Given the description of an element on the screen output the (x, y) to click on. 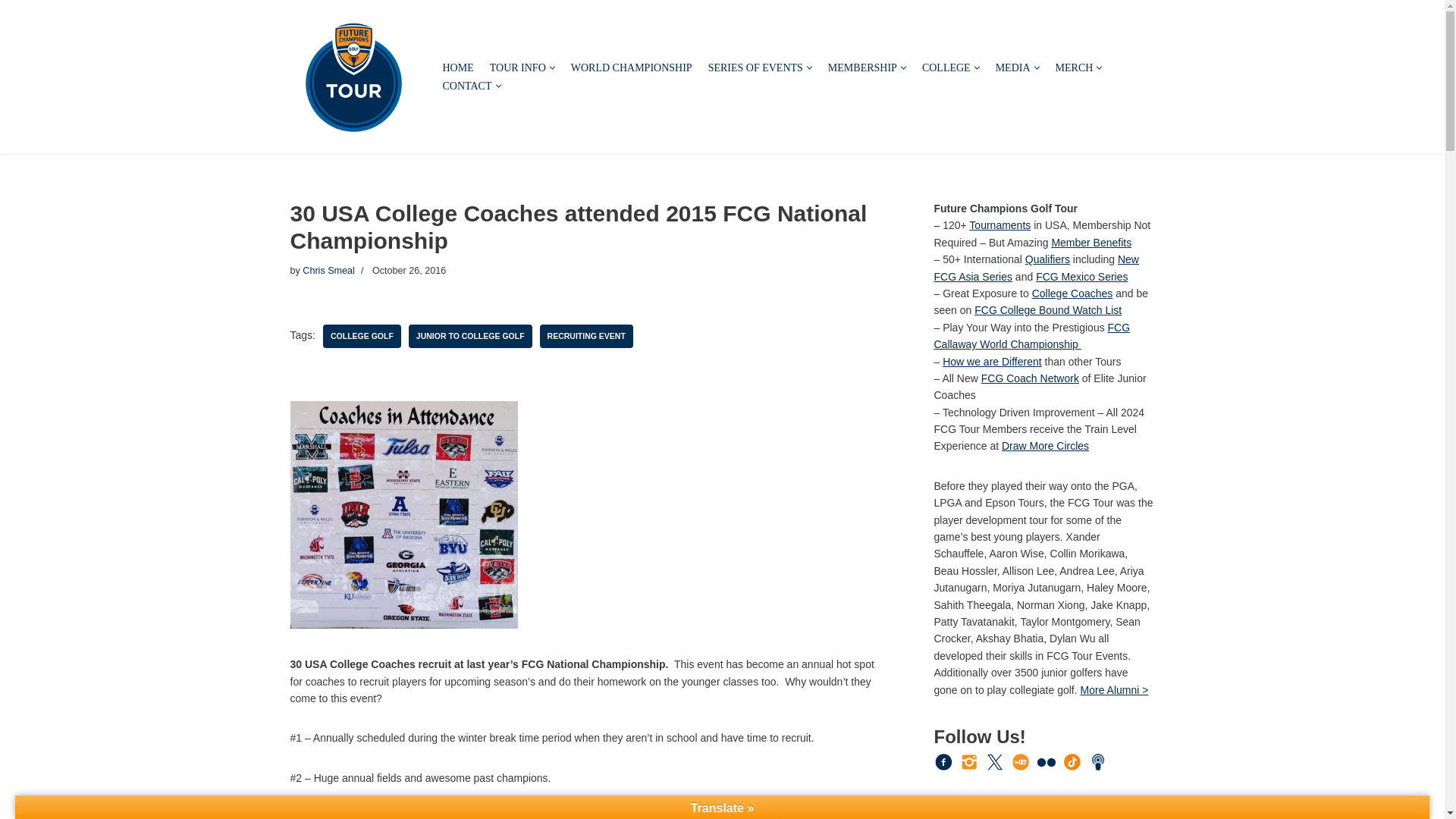
Follow Us on Podcasts (1097, 761)
Follow Us on X (994, 761)
Follow Us on TikTok (1071, 761)
Follow Us on Instagram (968, 761)
Follow Us on Flickr (1045, 762)
College Golf (362, 336)
Recruiting Event (586, 336)
TOUR INFO (517, 67)
Posts by Chris Smeal (328, 270)
Follow Us on Facebook (943, 761)
Junior to College Golf (470, 336)
Follow Us on YouTube (1020, 761)
HOME (458, 67)
Skip to content (11, 31)
